Given the description of an element on the screen output the (x, y) to click on. 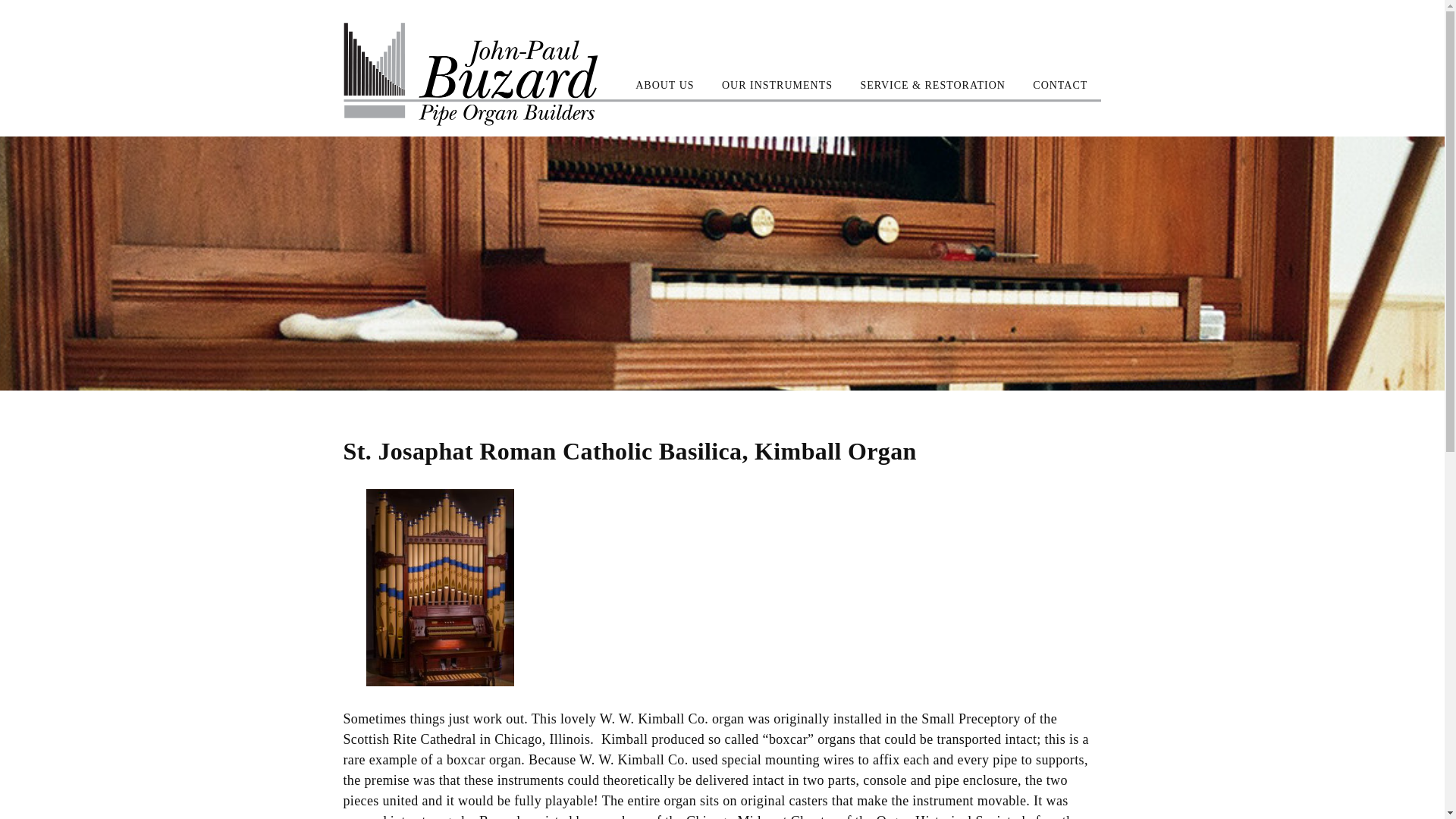
ABOUT US (664, 85)
CONTACT (1059, 85)
OUR INSTRUMENTS (776, 85)
